Given the description of an element on the screen output the (x, y) to click on. 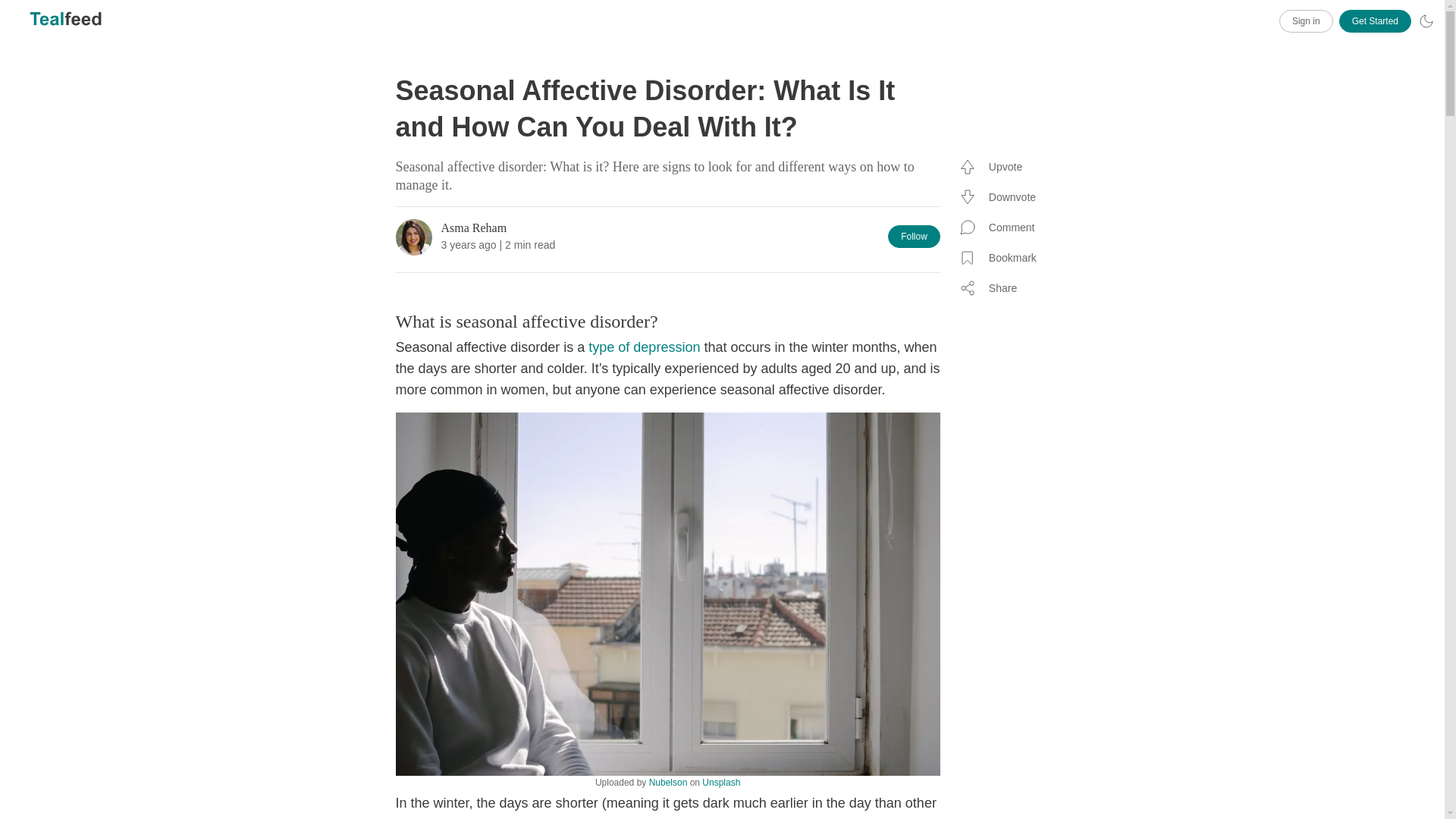
Nubelson (668, 782)
Follow (914, 236)
Comment (1000, 227)
type of depression (644, 346)
Get Started (1374, 20)
Sign in (1306, 20)
Unsplash (720, 782)
